Given the description of an element on the screen output the (x, y) to click on. 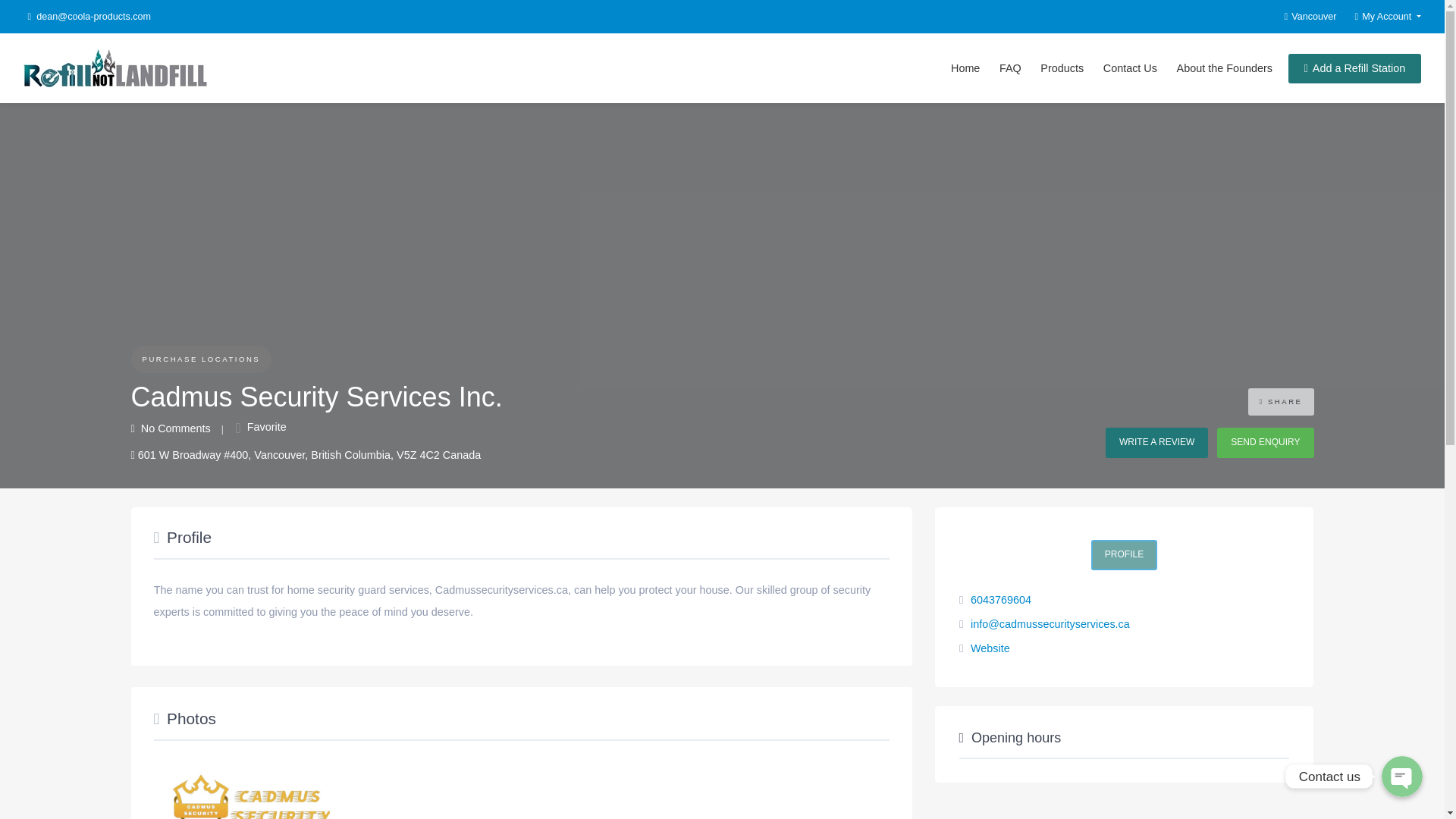
Website (990, 648)
Contact Us (1130, 68)
Add a Refill Station (1354, 68)
 Vancouver (1301, 16)
SHARE (1280, 401)
About the Founders (1224, 68)
Products (1061, 68)
My Account (1378, 16)
Add a Refill Station (1354, 68)
SEND ENQUIRY (1265, 442)
About the Founders (1224, 68)
Home (965, 68)
Home (965, 68)
6043769604 (1000, 599)
Favorite (260, 426)
